Given the description of an element on the screen output the (x, y) to click on. 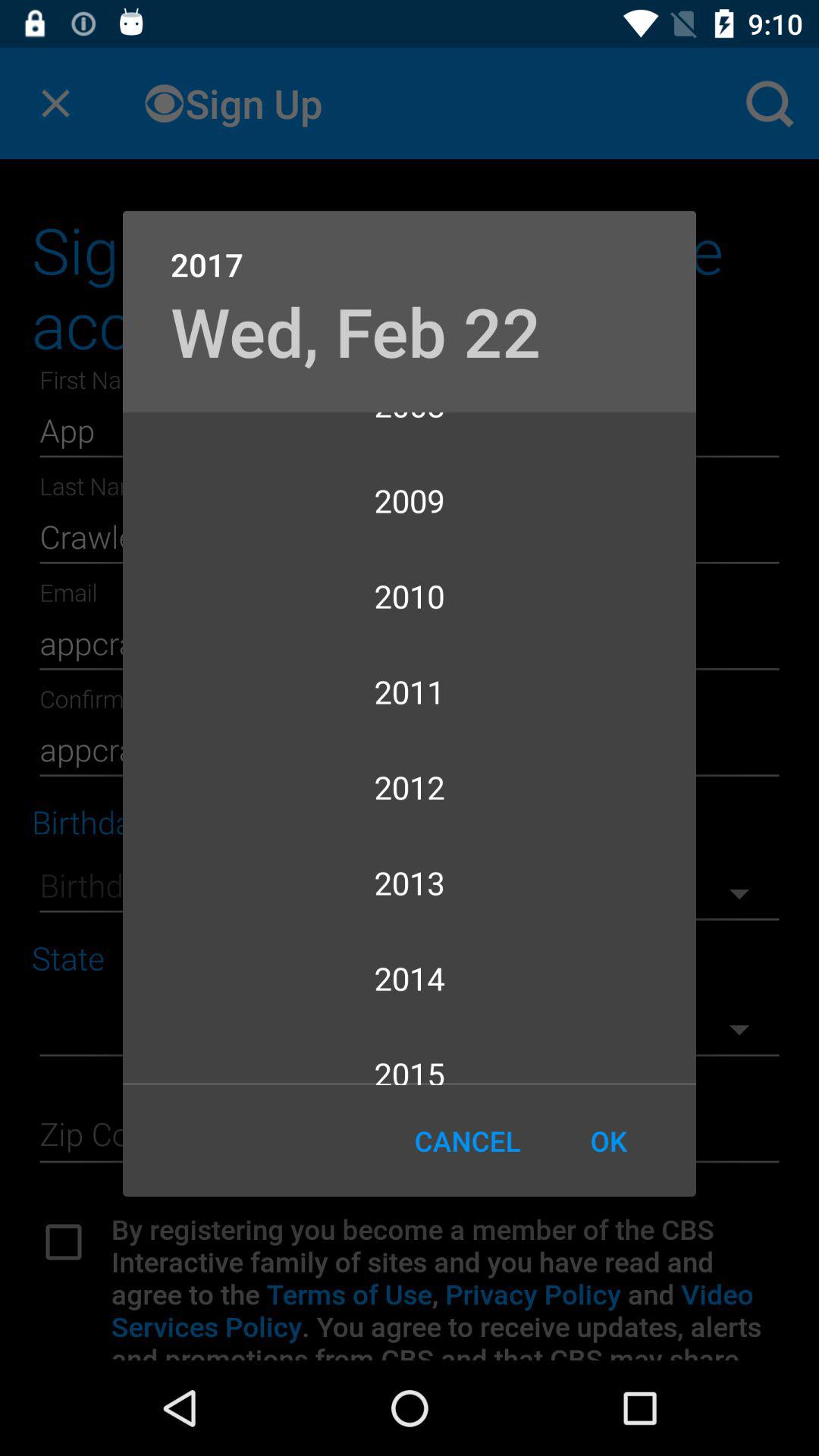
click icon to the right of cancel icon (608, 1140)
